Given the description of an element on the screen output the (x, y) to click on. 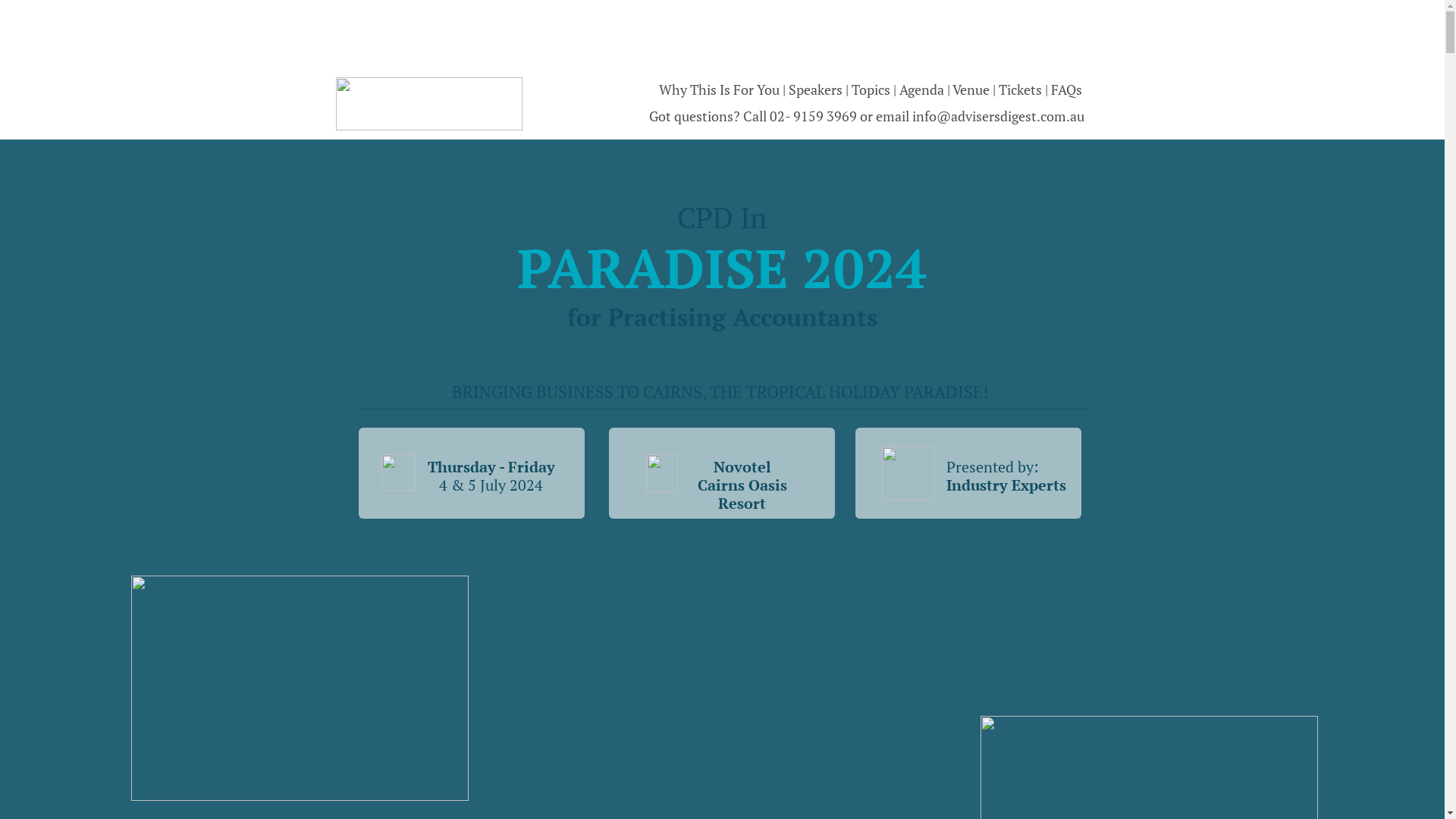
Topics Element type: text (871, 89)
Venue Element type: text (972, 89)
FAQs Element type: text (1066, 89)
Agenda Element type: text (923, 89)
Why This Is For You Element type: text (718, 89)
Tickets Element type: text (1020, 89)
Speakers Element type: text (816, 89)
